Given the description of an element on the screen output the (x, y) to click on. 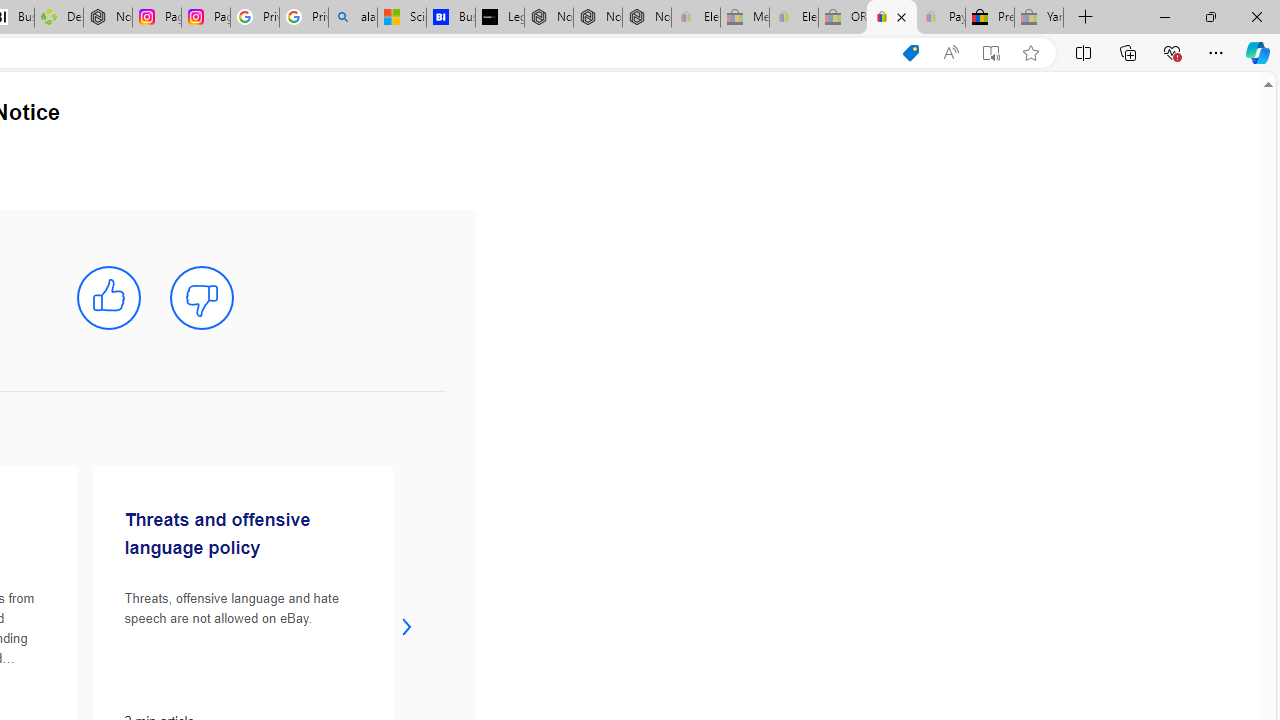
This site has coupons! Shopping in Microsoft Edge (910, 53)
alabama high school quarterback dies - Search (353, 17)
next slide (407, 626)
Payments Terms of Use | eBay.com - Sleeping (940, 17)
User Privacy Notice | eBay (891, 17)
Descarga Driver Updater (58, 17)
